Given the description of an element on the screen output the (x, y) to click on. 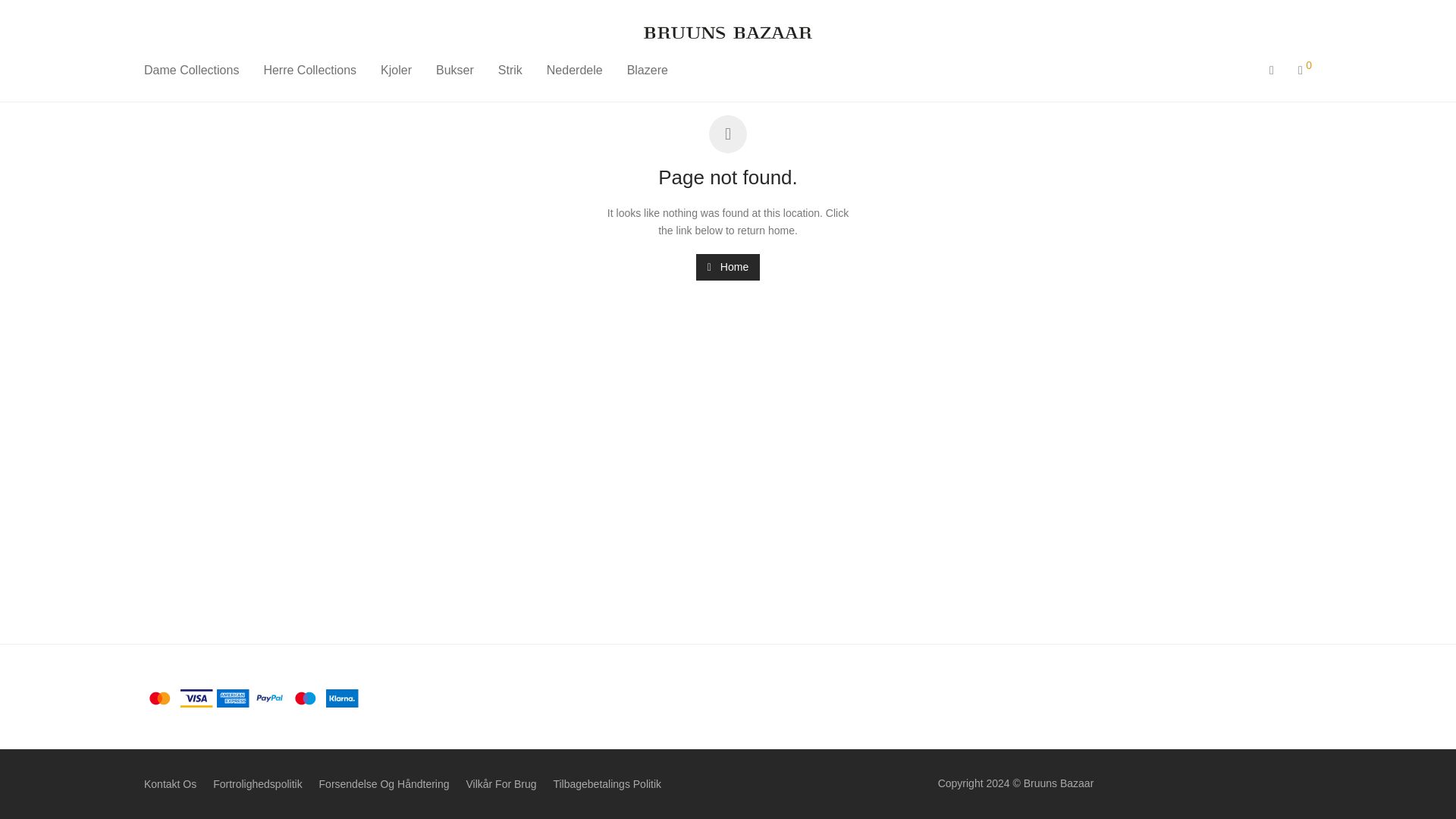
Home (727, 266)
Strik (510, 70)
Herre Collections (309, 70)
Tilbagebetalings Politik (607, 784)
Fortrolighedspolitik (257, 784)
Blazere (646, 70)
Bukser (454, 70)
0 (1304, 70)
Kjoler (395, 70)
Dame Collections (191, 70)
